Given the description of an element on the screen output the (x, y) to click on. 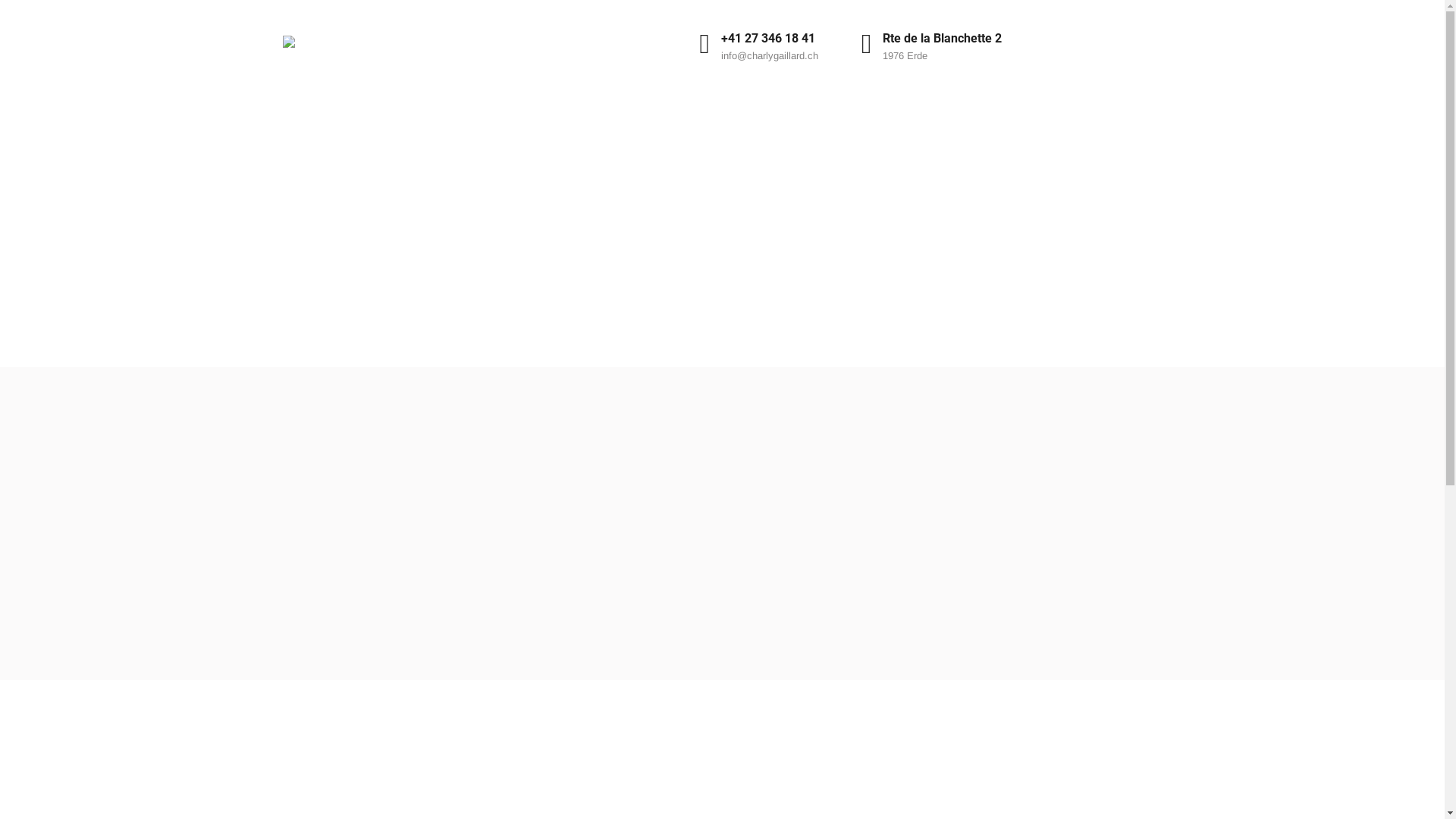
+41 27 346 18 41 Element type: text (768, 38)
info@charlygaillard.ch Element type: text (769, 55)
